Given the description of an element on the screen output the (x, y) to click on. 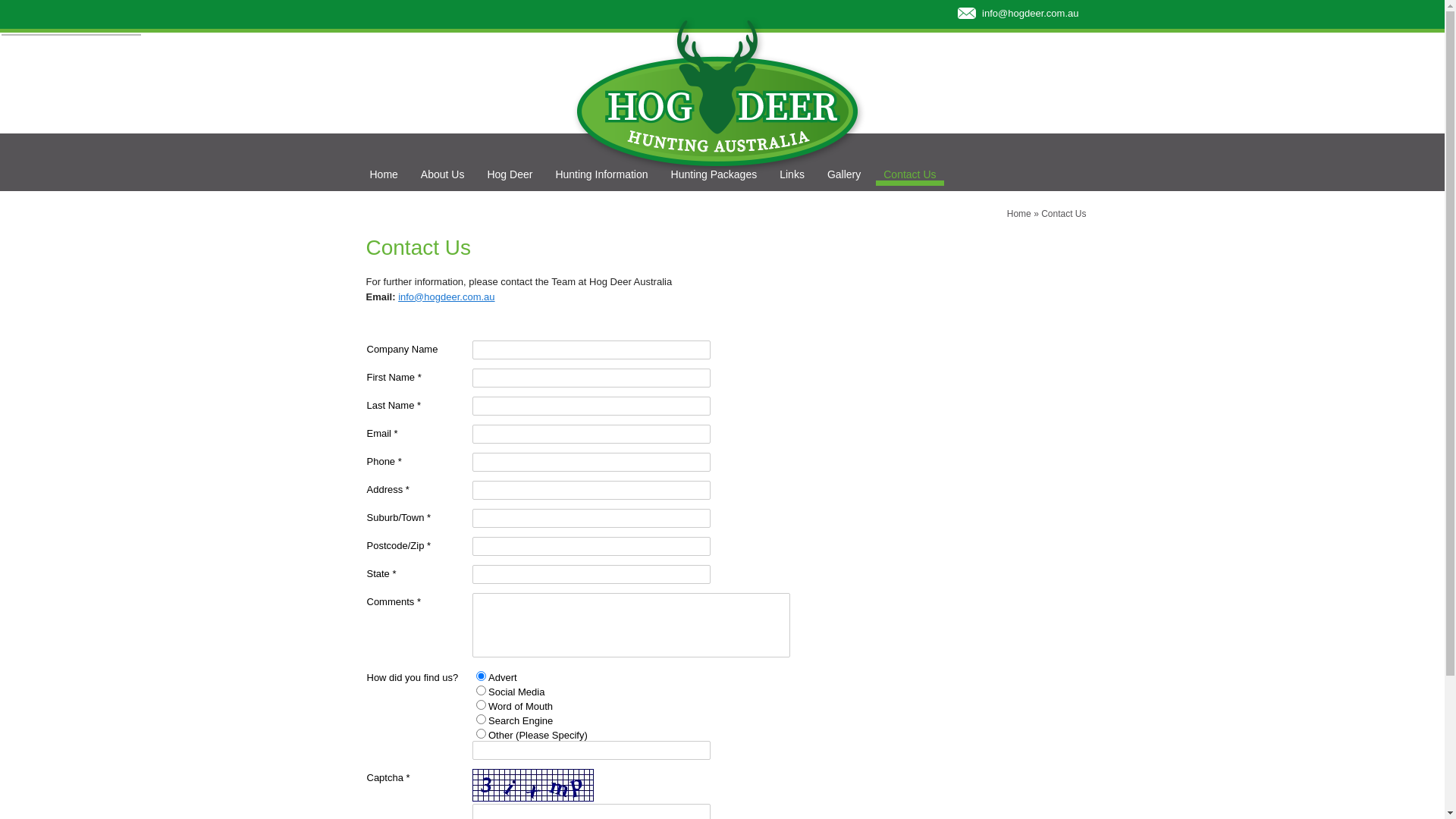
Hog Deer Element type: text (509, 174)
Click for New Security Code Element type: hover (532, 784)
Hunting Packages Element type: text (714, 174)
Hunting Information Element type: text (601, 174)
Contact Us Element type: text (909, 176)
About Us Element type: text (442, 174)
info@hogdeer.com.au Element type: text (1030, 12)
Home Element type: text (1019, 213)
Contact Us Element type: text (1063, 213)
Contact Hod Deer Hunting Via Email Element type: hover (966, 12)
Gallery Element type: text (843, 174)
Links Element type: text (791, 174)
Hog Deer Hunting Australia Element type: hover (717, 90)
info@hogdeer.com.au Element type: text (446, 296)
Home Element type: text (383, 174)
